Given the description of an element on the screen output the (x, y) to click on. 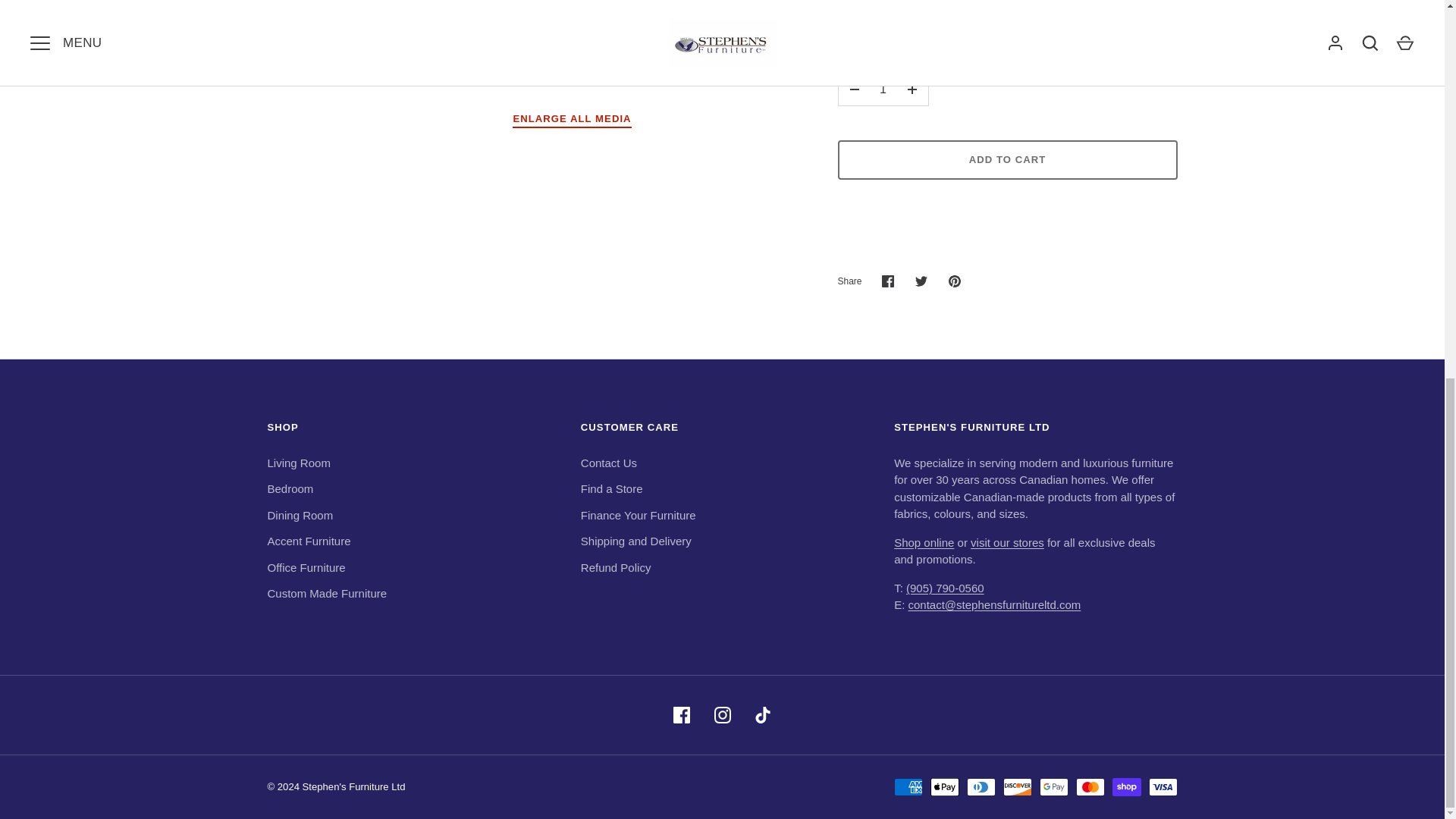
1 (883, 89)
Showrooms (1007, 542)
